Given the description of an element on the screen output the (x, y) to click on. 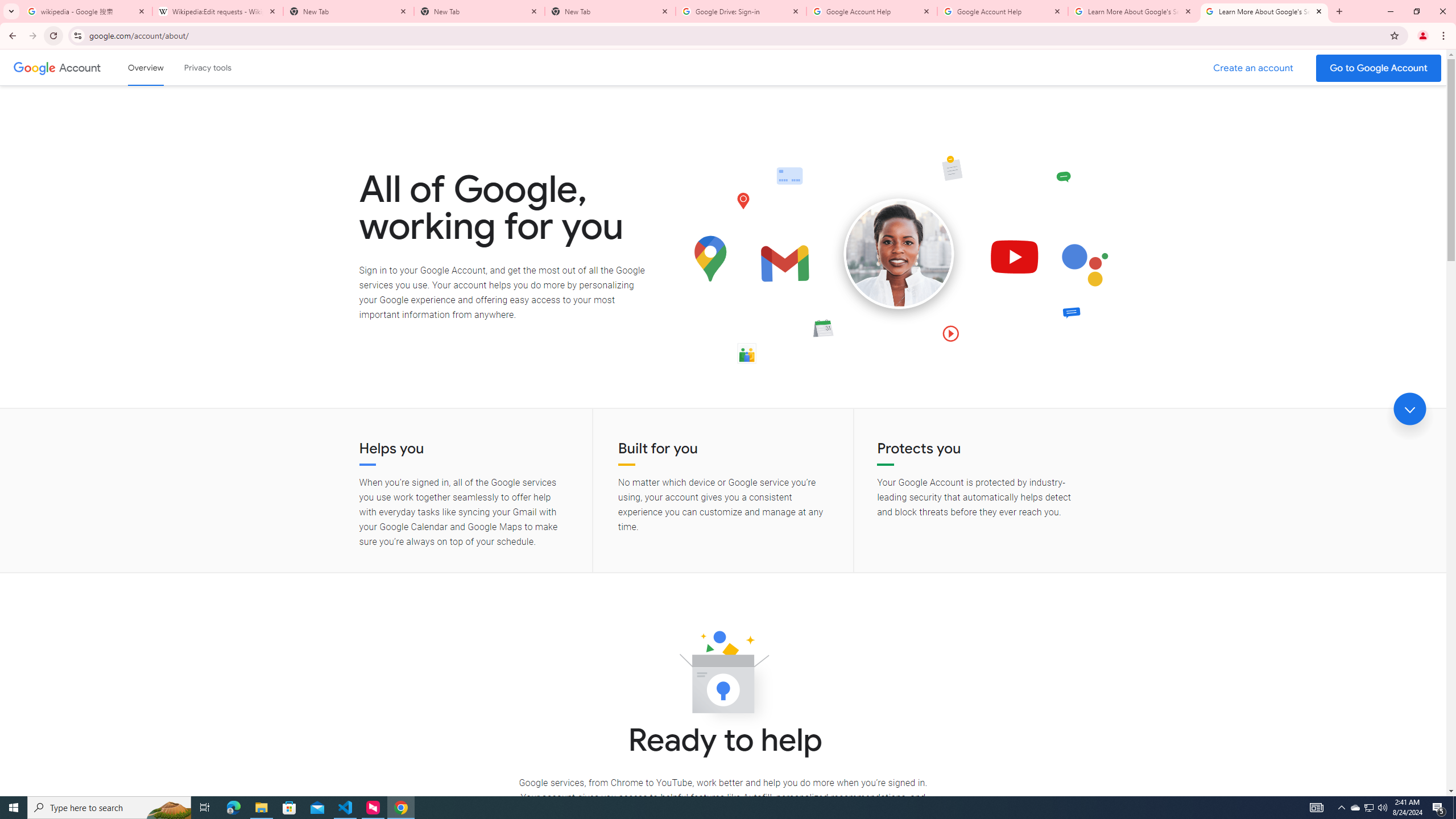
New Tab (479, 11)
Go to your Google Account (1378, 67)
Wikipedia:Edit requests - Wikipedia (217, 11)
Google Account Help (871, 11)
Skip to Content (162, 65)
Jump link (1409, 408)
Ready to help (722, 675)
